Given the description of an element on the screen output the (x, y) to click on. 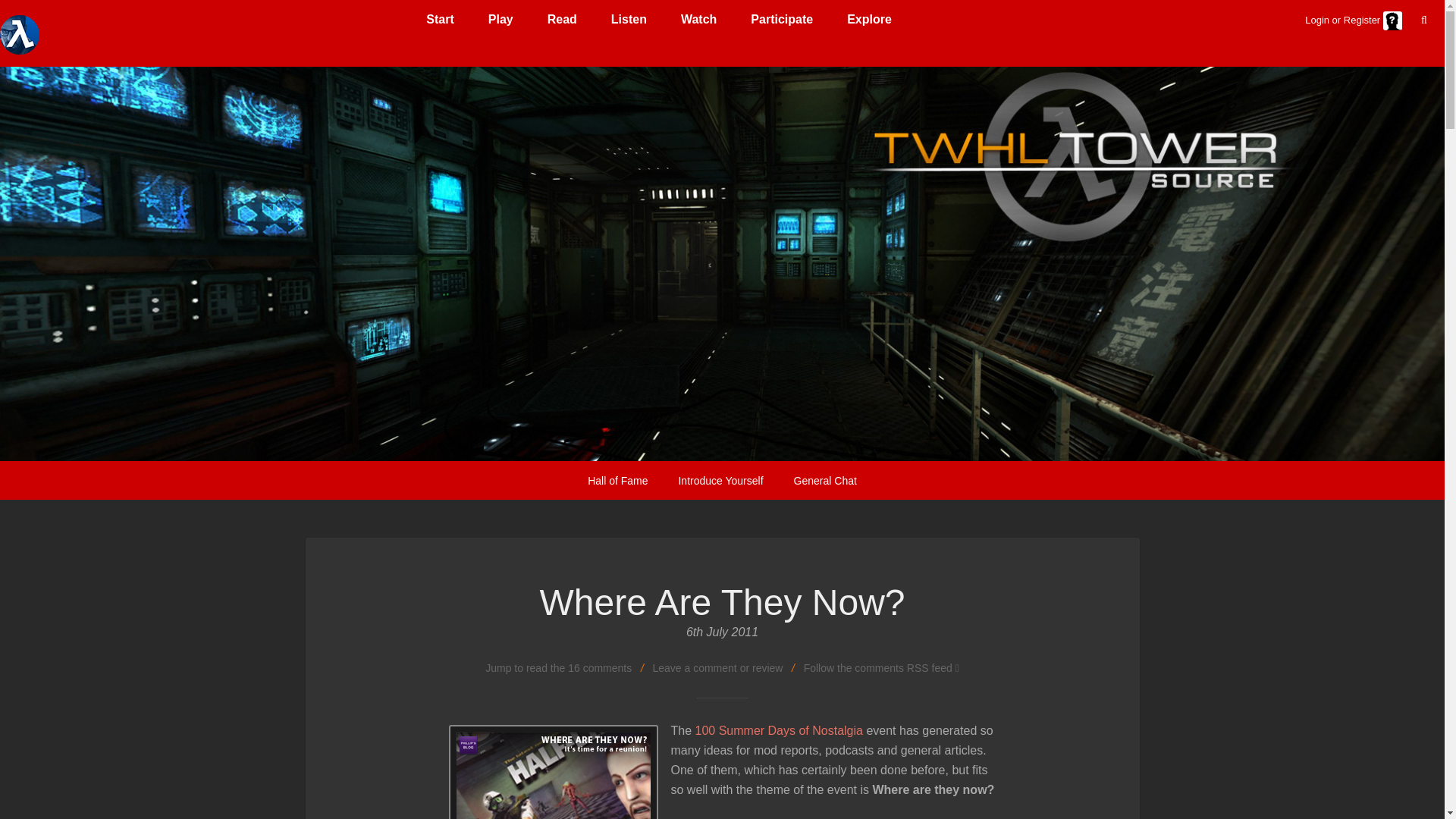
Participate (787, 20)
Play (506, 20)
Watch (704, 20)
Start (445, 20)
Read (567, 20)
Listen (634, 20)
